Given the description of an element on the screen output the (x, y) to click on. 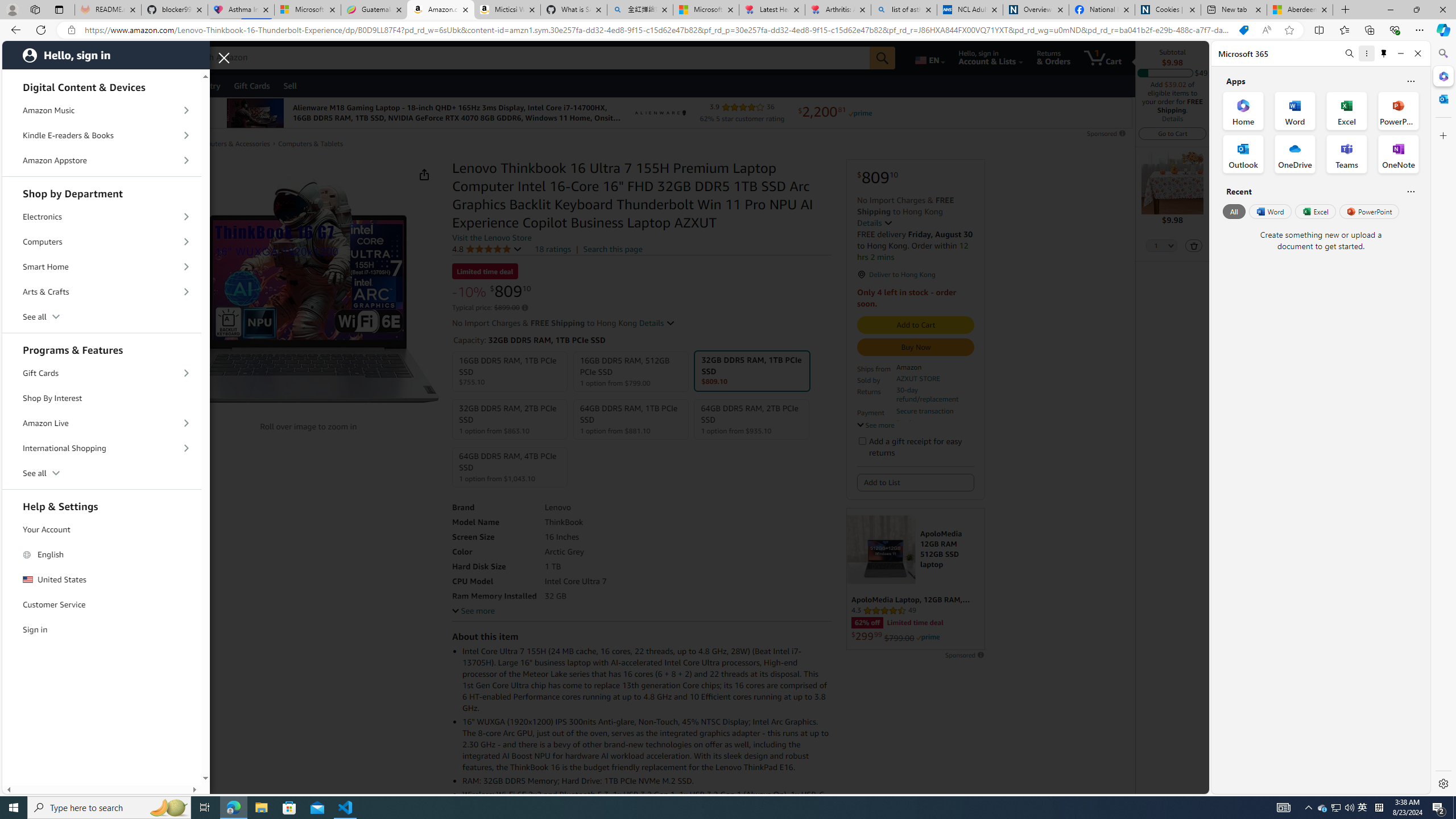
NCL Adult Asthma Inhaler Choice Guideline (969, 9)
AZXUT STORE (917, 378)
United States (101, 579)
Electronics (101, 216)
Computers & Accessories (231, 143)
OneNote Office App (1398, 154)
64GB DDR5 RAM, 1TB PCIe SSD 1 option from $881.10 (630, 418)
Visit the Lenovo Store (491, 237)
Registry (205, 85)
Search in (210, 56)
64GB DDR5 RAM, 4TB PCIe SSD 1 option from $1,043.10 (509, 466)
